Given the description of an element on the screen output the (x, y) to click on. 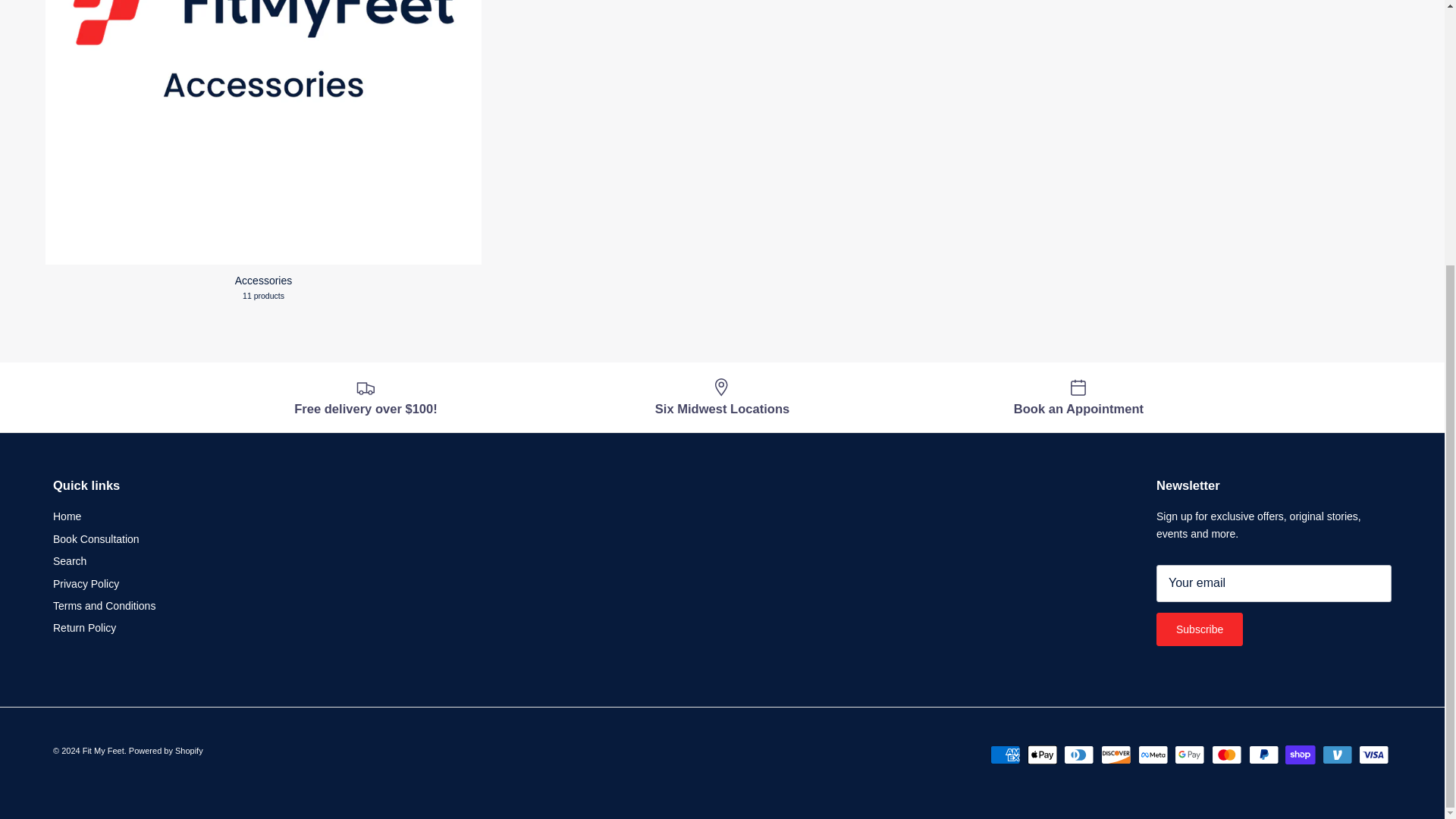
PayPal (1262, 754)
Venmo (1337, 754)
Google Pay (1189, 754)
Visa (1373, 754)
Apple Pay (1042, 754)
American Express (1005, 754)
Meta Pay (1152, 754)
Diners Club (1078, 754)
Mastercard (1226, 754)
Shop Pay (1299, 754)
